Given the description of an element on the screen output the (x, y) to click on. 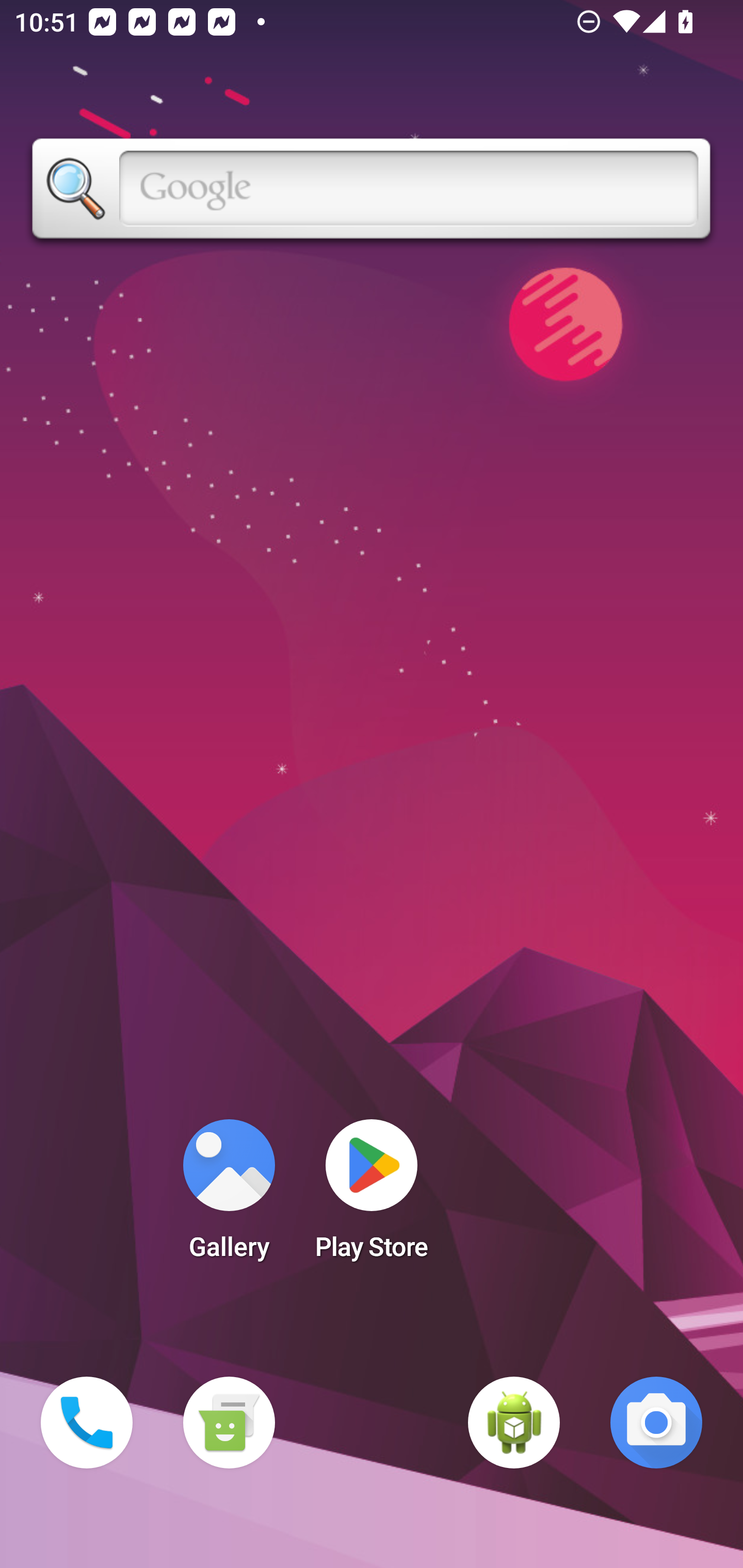
Gallery (228, 1195)
Play Store (371, 1195)
Phone (86, 1422)
Messaging (228, 1422)
WebView Browser Tester (513, 1422)
Camera (656, 1422)
